Given the description of an element on the screen output the (x, y) to click on. 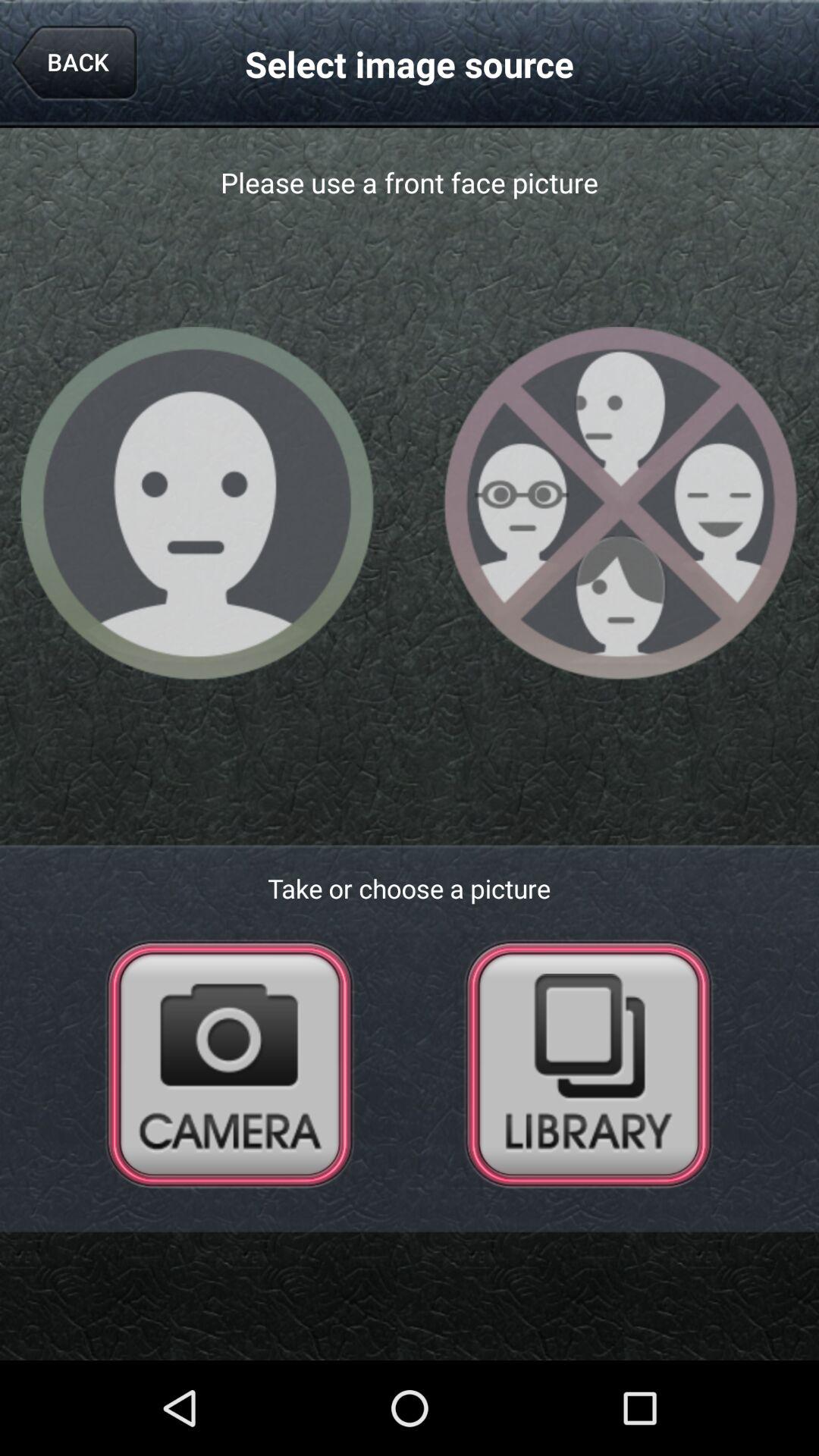
open camera (229, 1063)
